Given the description of an element on the screen output the (x, y) to click on. 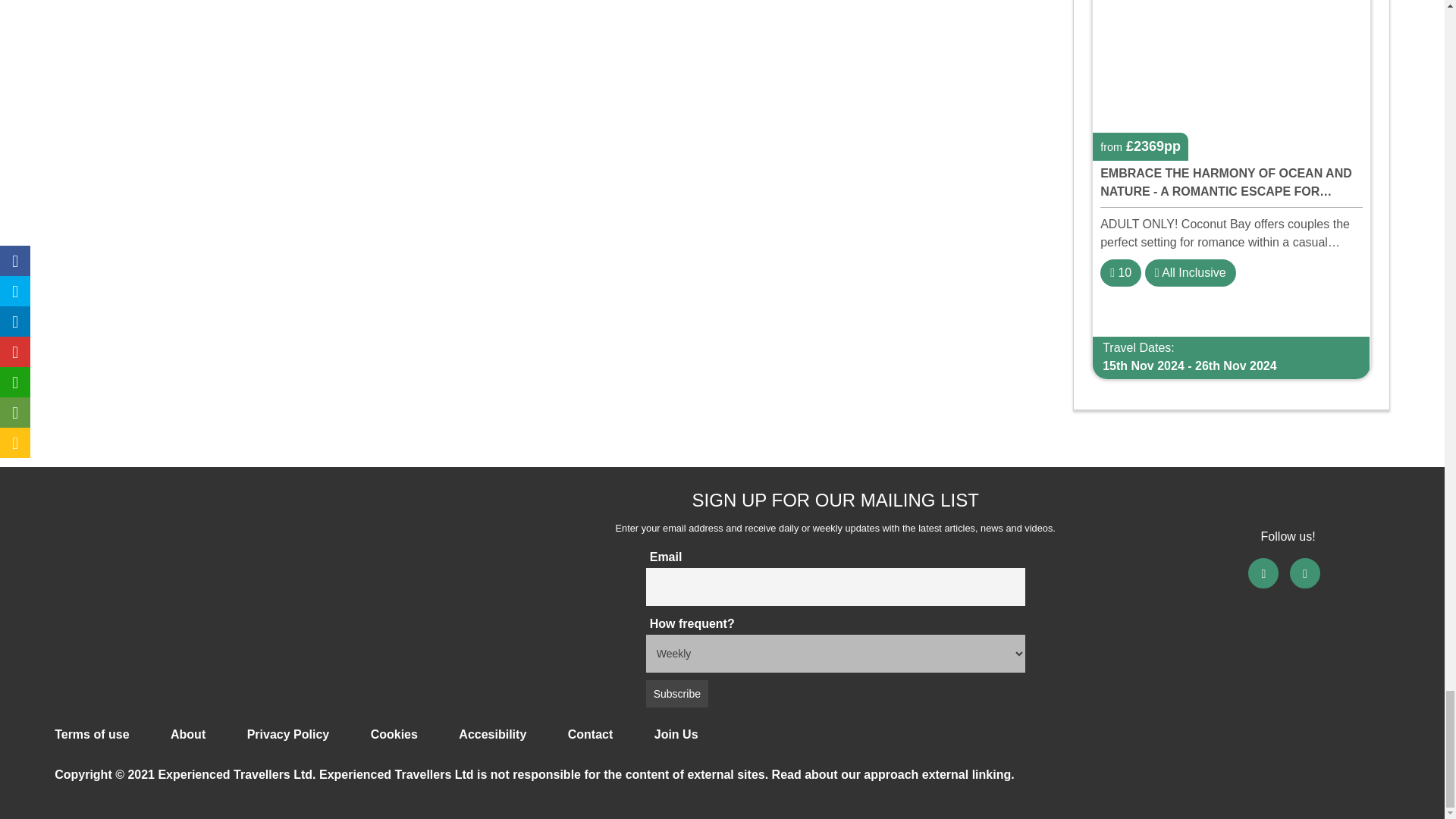
Subscribe (676, 693)
